Given the description of an element on the screen output the (x, y) to click on. 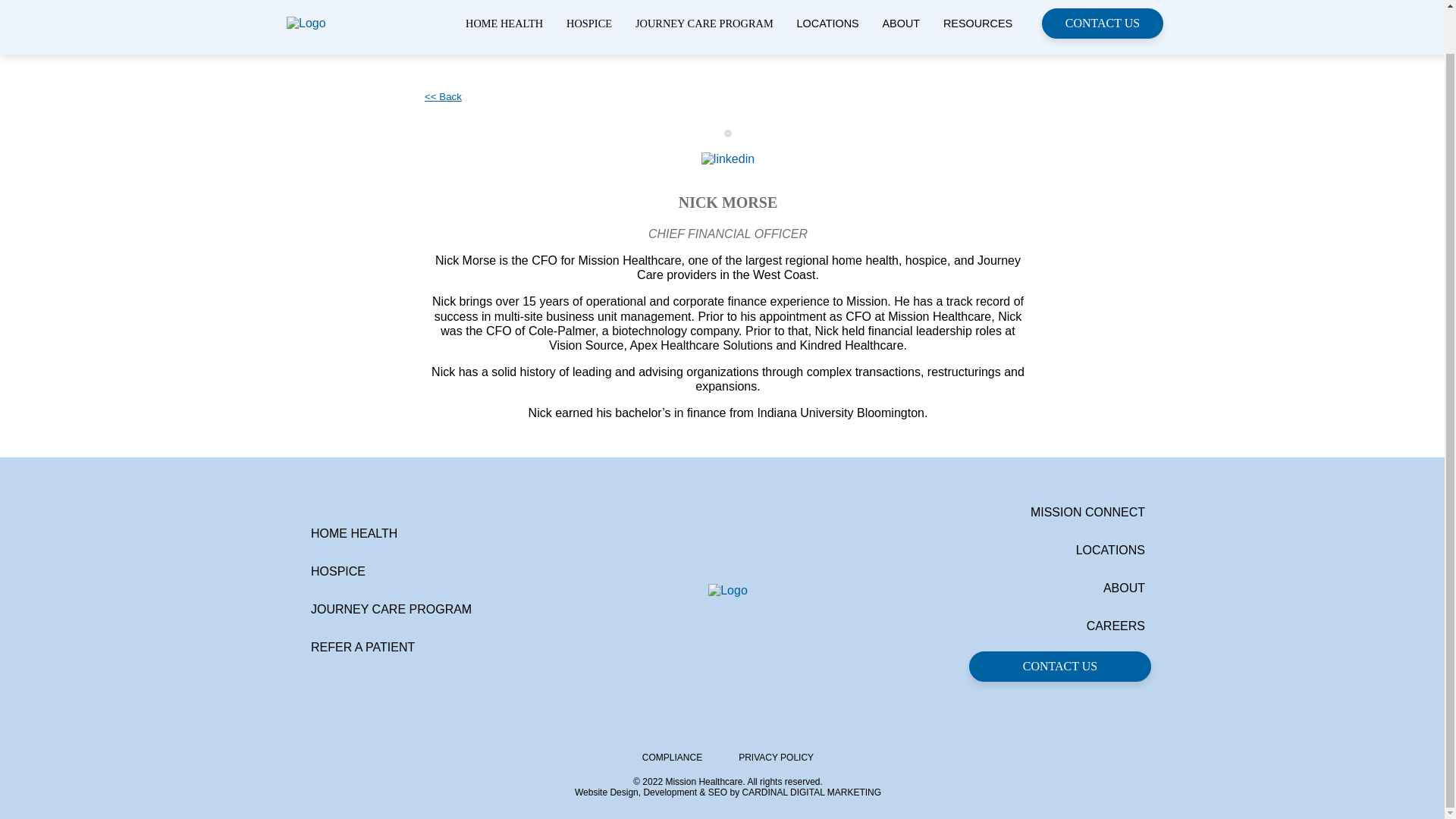
JOURNEY CARE PROGRAM (703, 23)
LOCATIONS (827, 23)
ABOUT (901, 23)
CONTACT US (1102, 22)
HOSPICE (588, 23)
HOME HEALTH (504, 23)
RESOURCES (977, 23)
